Given the description of an element on the screen output the (x, y) to click on. 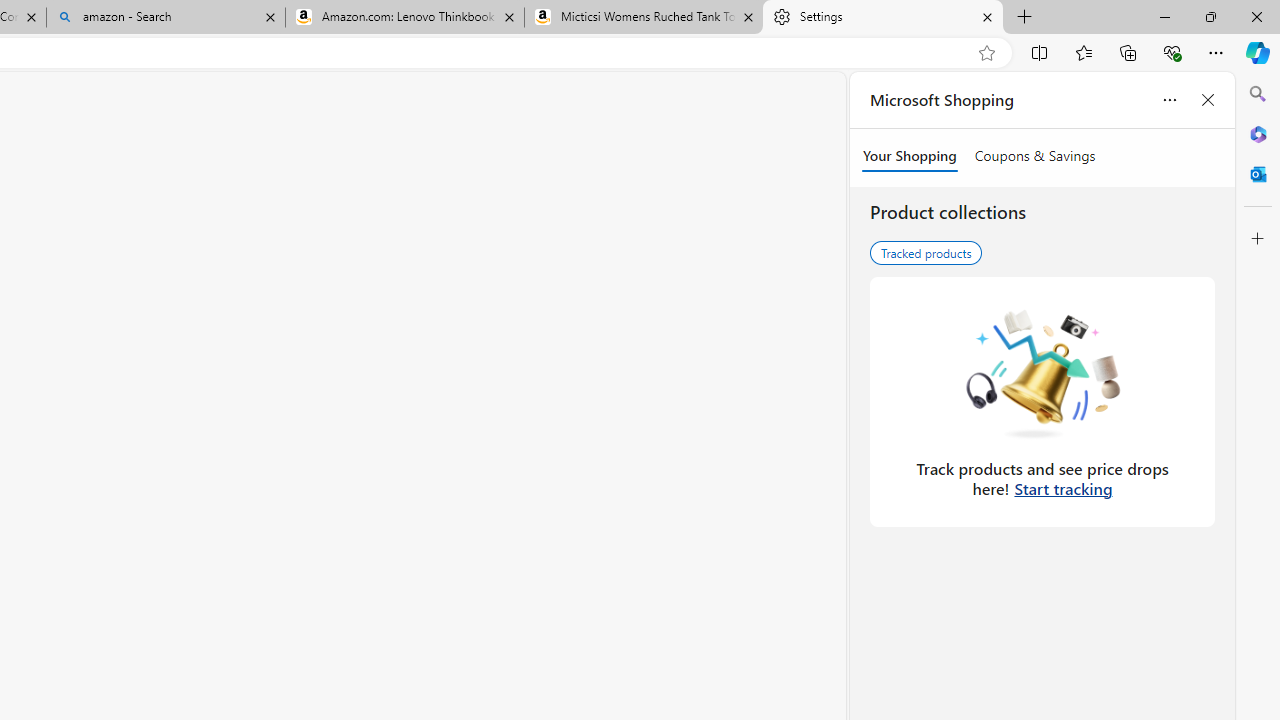
amazon - Search (166, 17)
